Given the description of an element on the screen output the (x, y) to click on. 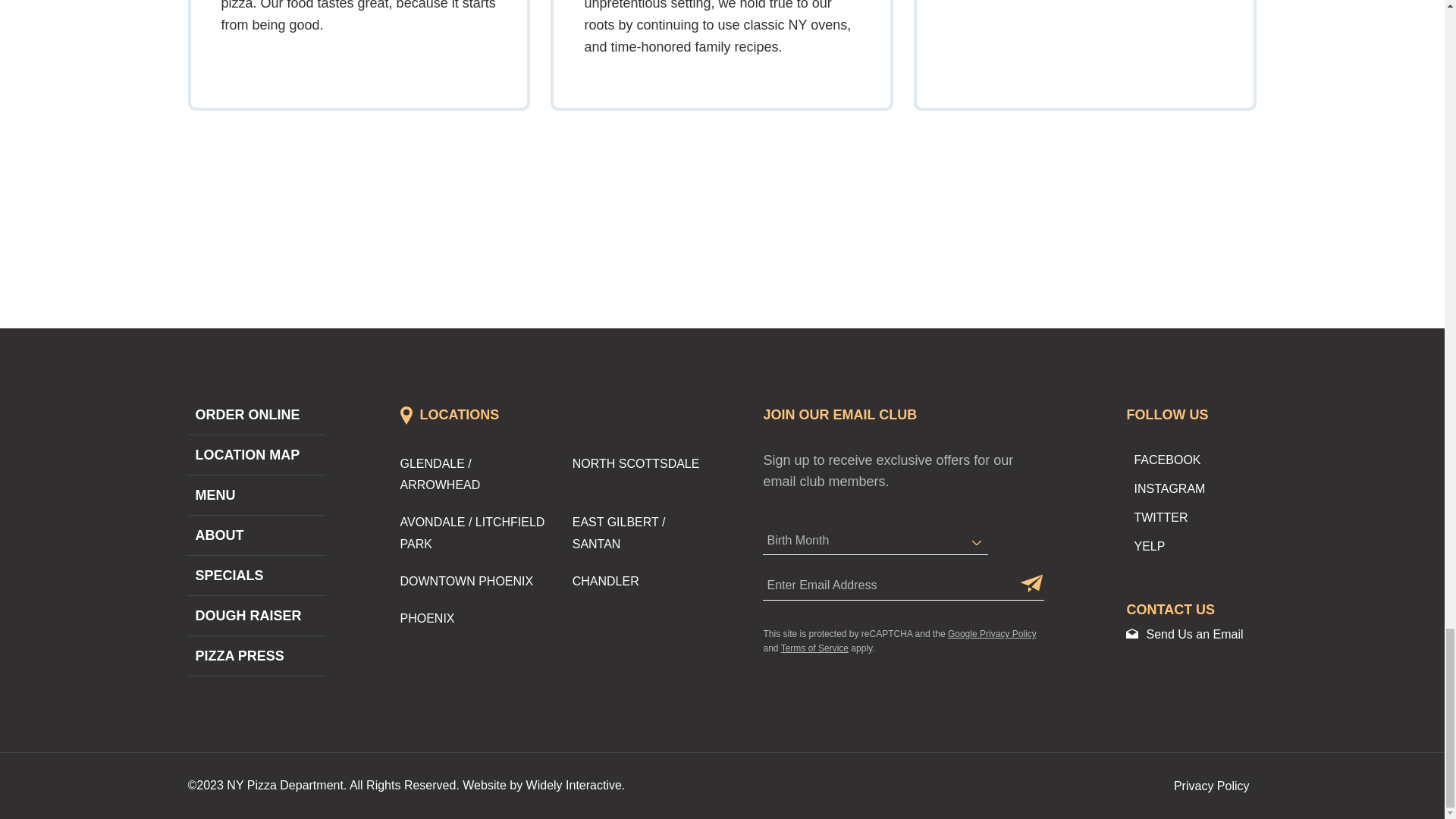
LOCATION MAP (243, 454)
PIZZA PRESS (235, 655)
SPECIALS (225, 575)
CHANDLER (605, 581)
ORDER ONLINE (243, 414)
Google Privacy Policy (991, 633)
DOUGH RAISER (244, 615)
PHOENIX (427, 617)
NORTH SCOTTSDALE (636, 463)
DOWNTOWN PHOENIX (467, 581)
MENU (211, 495)
ABOUT (215, 535)
